Given the description of an element on the screen output the (x, y) to click on. 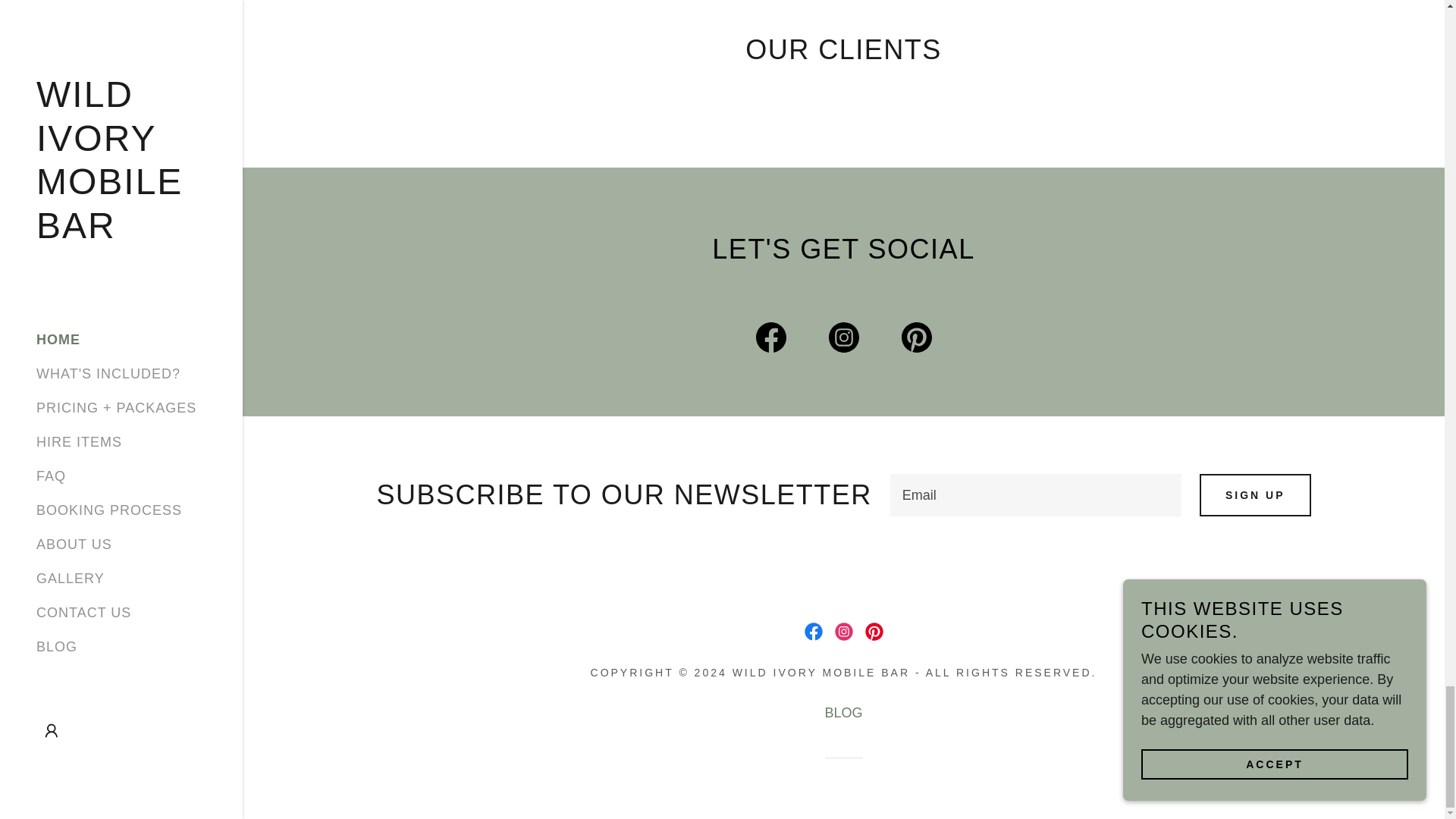
SIGN UP (1255, 494)
